Given the description of an element on the screen output the (x, y) to click on. 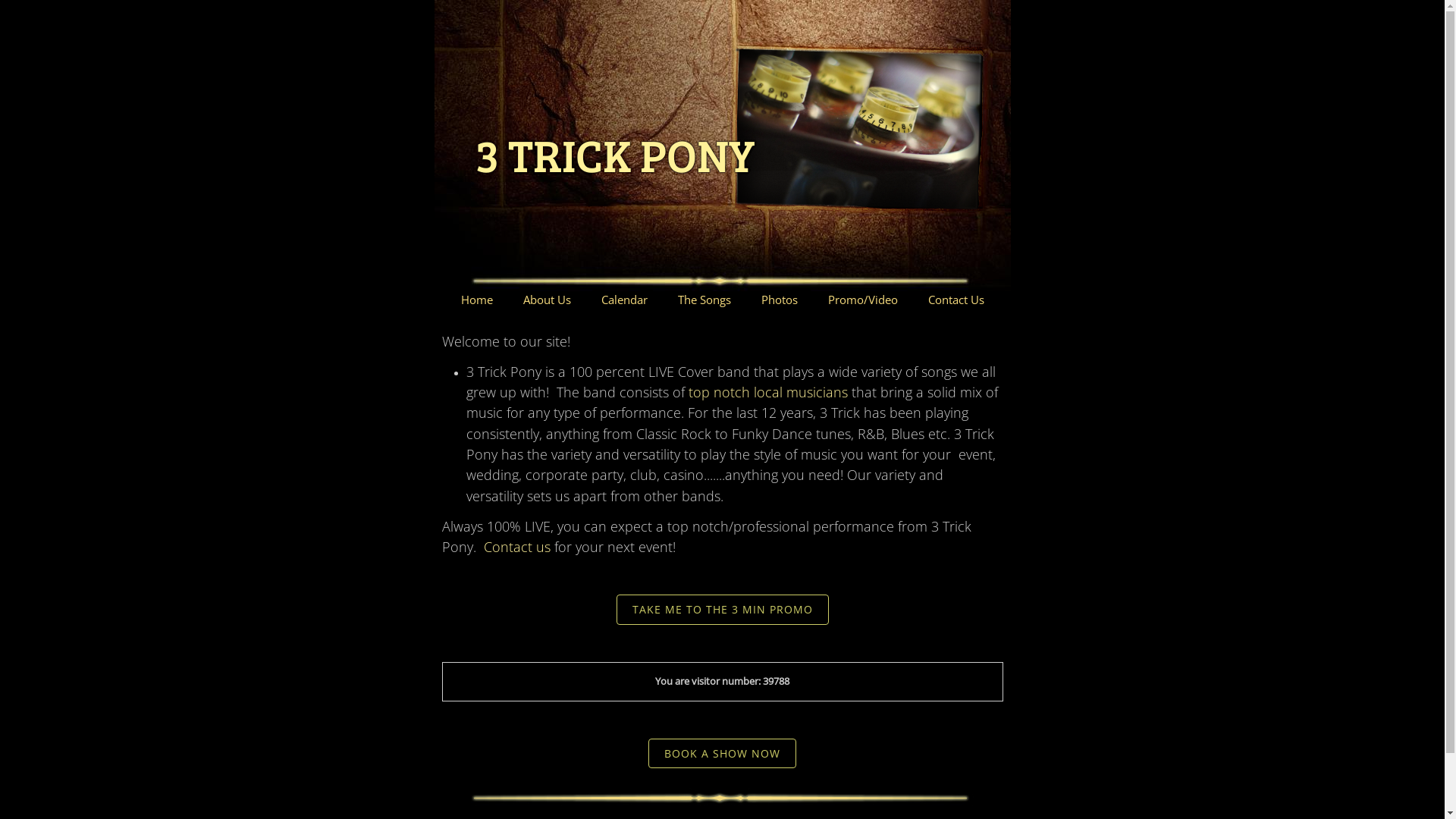
Calendar Element type: text (623, 299)
About Us Element type: text (547, 299)
Home Element type: text (476, 299)
top notch local musicians Element type: text (767, 391)
Promo/Video Element type: text (862, 299)
The Songs Element type: text (704, 299)
TAKE ME TO THE 3 MIN PROMO Element type: text (721, 609)
BOOK A SHOW NOW Element type: text (722, 753)
Contact us Element type: text (516, 548)
3 TRICK PONY Element type: text (610, 122)
Contact Us Element type: text (956, 299)
Photos Element type: text (779, 299)
